Given the description of an element on the screen output the (x, y) to click on. 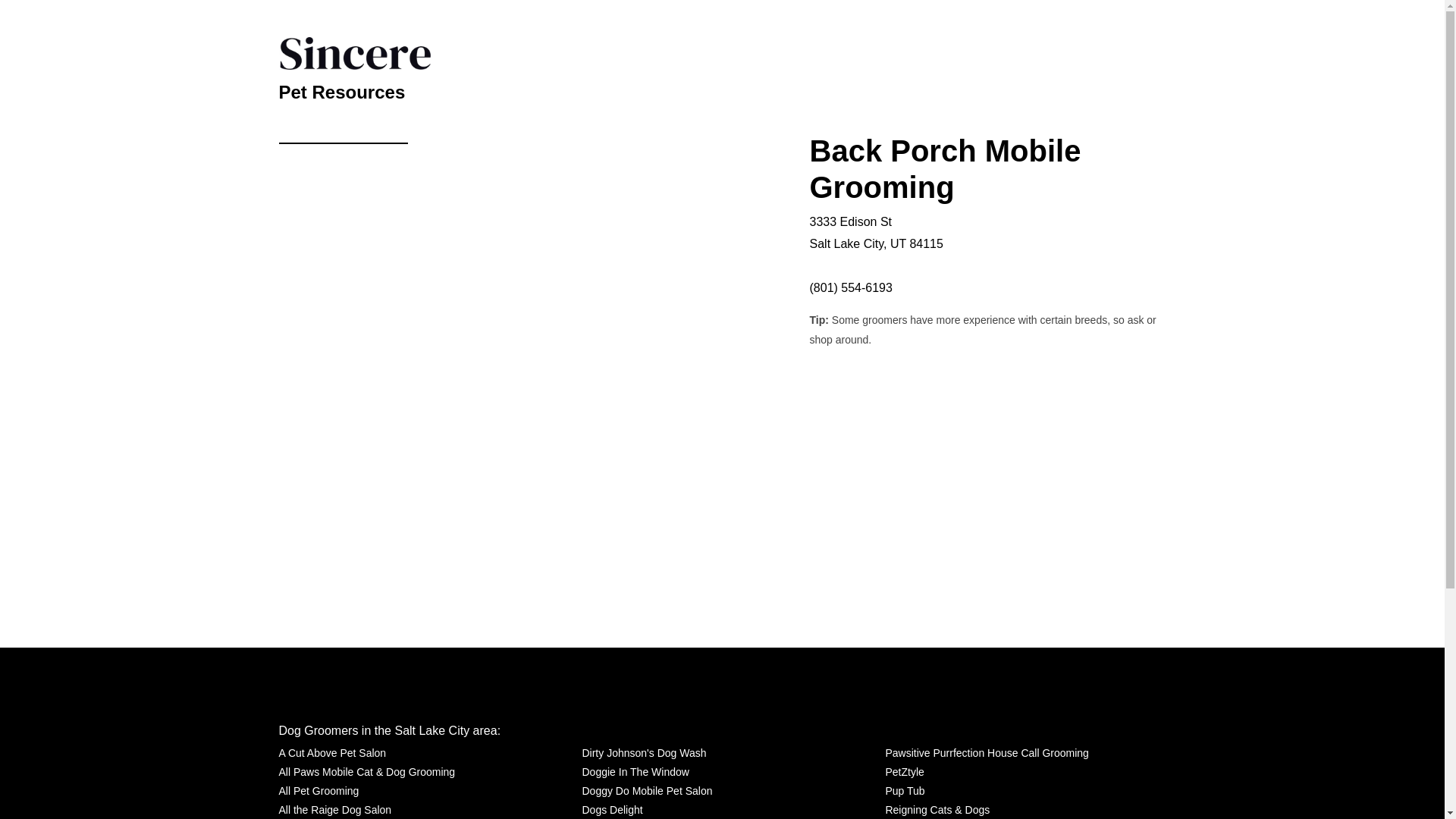
Doggie In The Window (634, 772)
Pawsitive Purrfection House Call Grooming (986, 752)
Doggy Do Mobile Pet Salon (645, 791)
All the Raige Dog Salon (335, 809)
Dirty Johnson's Dog Wash (643, 752)
PetZtyle (904, 772)
Pup Tub (904, 791)
Pet Resources (342, 89)
Dog Groomers in the Salt Lake City area: (389, 730)
All Pet Grooming (319, 791)
A Cut Above Pet Salon (333, 752)
Dogs Delight (611, 809)
